Given the description of an element on the screen output the (x, y) to click on. 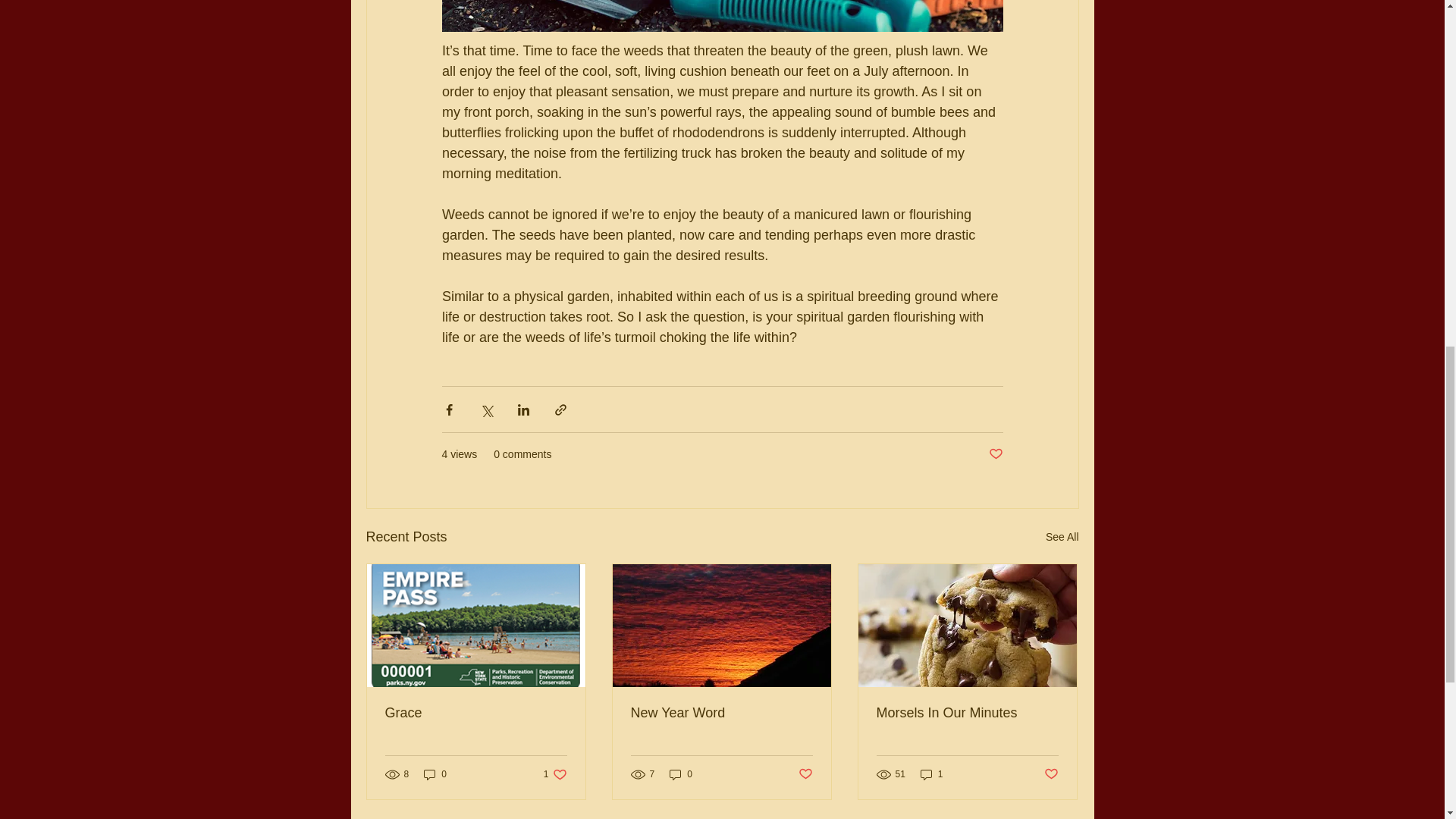
Grace (476, 713)
Morsels In Our Minutes (967, 713)
0 (435, 774)
New Year Word (721, 713)
Post not marked as liked (555, 774)
0 (1050, 774)
1 (681, 774)
Post not marked as liked (931, 774)
See All (995, 454)
Post not marked as liked (1061, 536)
